Given the description of an element on the screen output the (x, y) to click on. 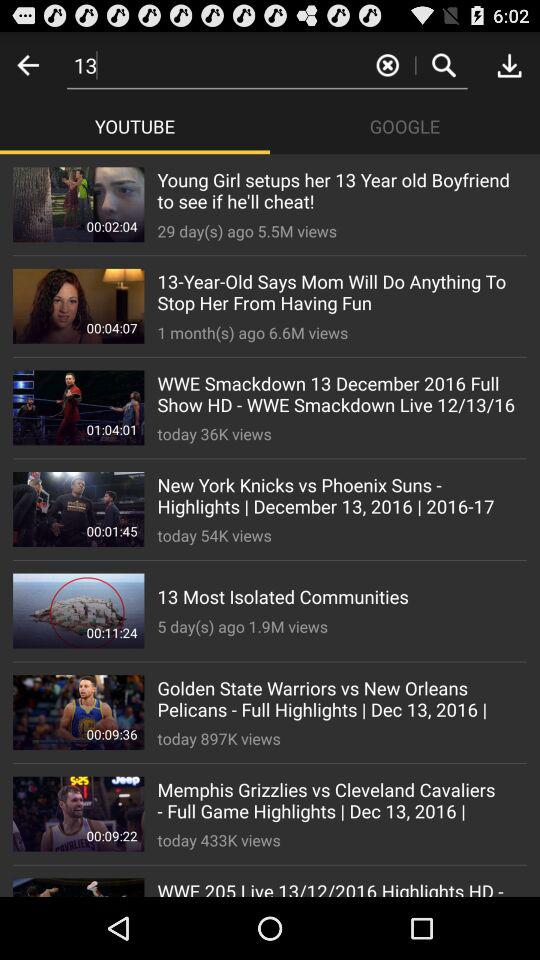
go to previous screen (27, 64)
